Given the description of an element on the screen output the (x, y) to click on. 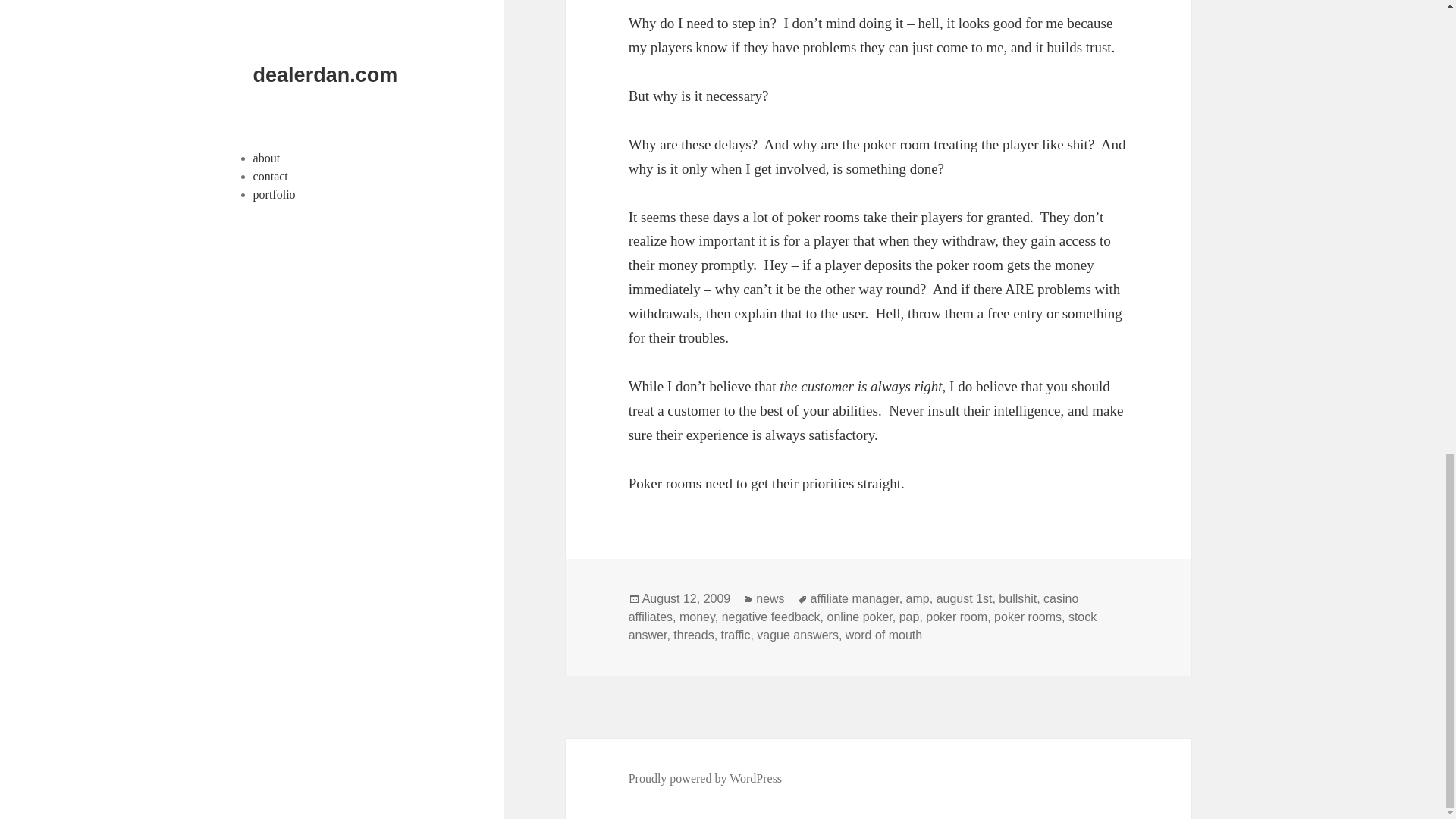
amp (917, 599)
vague answers (797, 635)
pap (909, 617)
August 12, 2009 (686, 599)
casino affiliates (853, 608)
news (769, 599)
negative feedback (771, 617)
bullshit (1017, 599)
stock answer (862, 626)
affiliate manager (854, 599)
Proudly powered by WordPress (704, 778)
traffic (735, 635)
word of mouth (883, 635)
money (696, 617)
poker rooms (1027, 617)
